Given the description of an element on the screen output the (x, y) to click on. 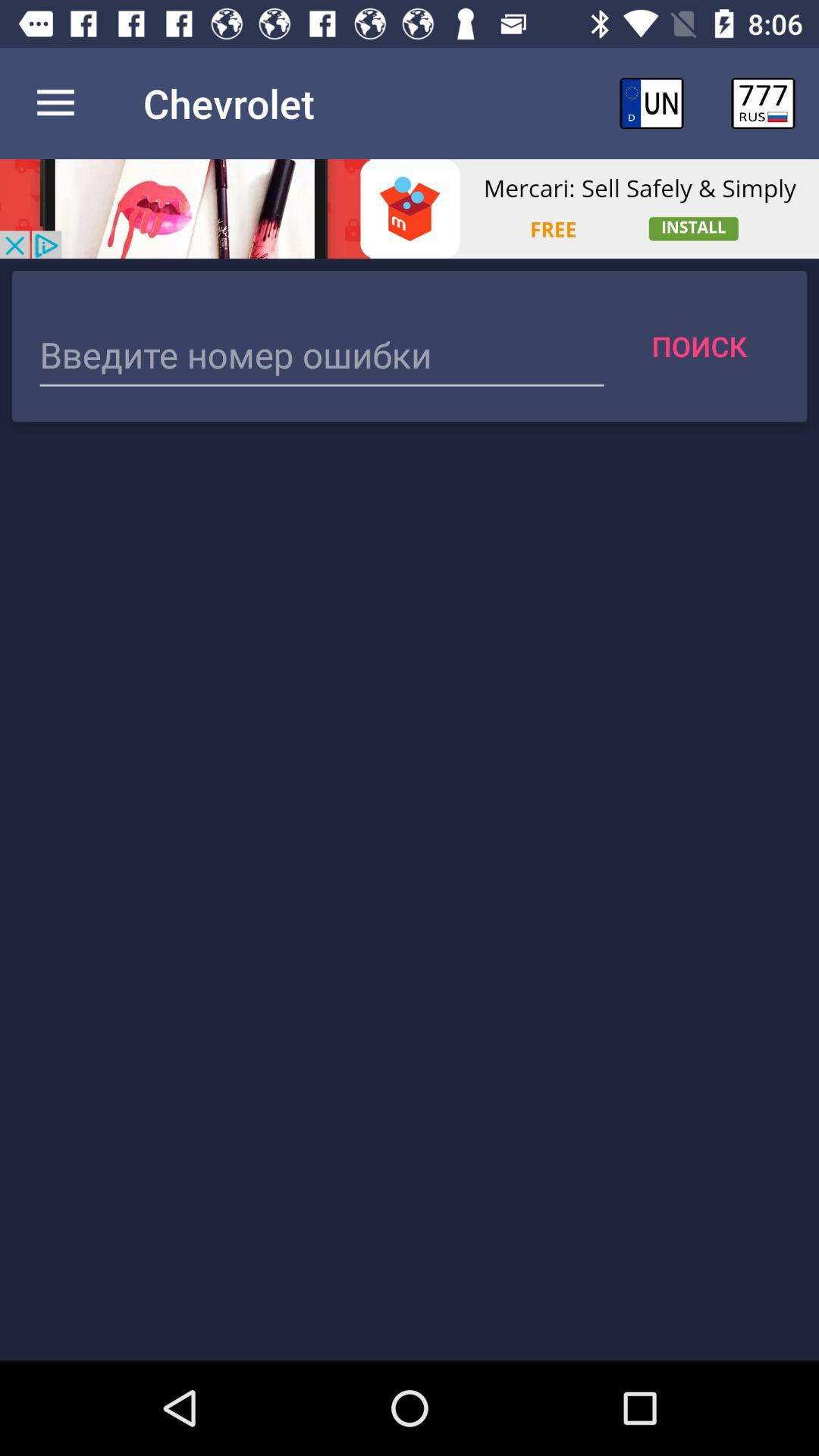
advertisement (409, 208)
